Given the description of an element on the screen output the (x, y) to click on. 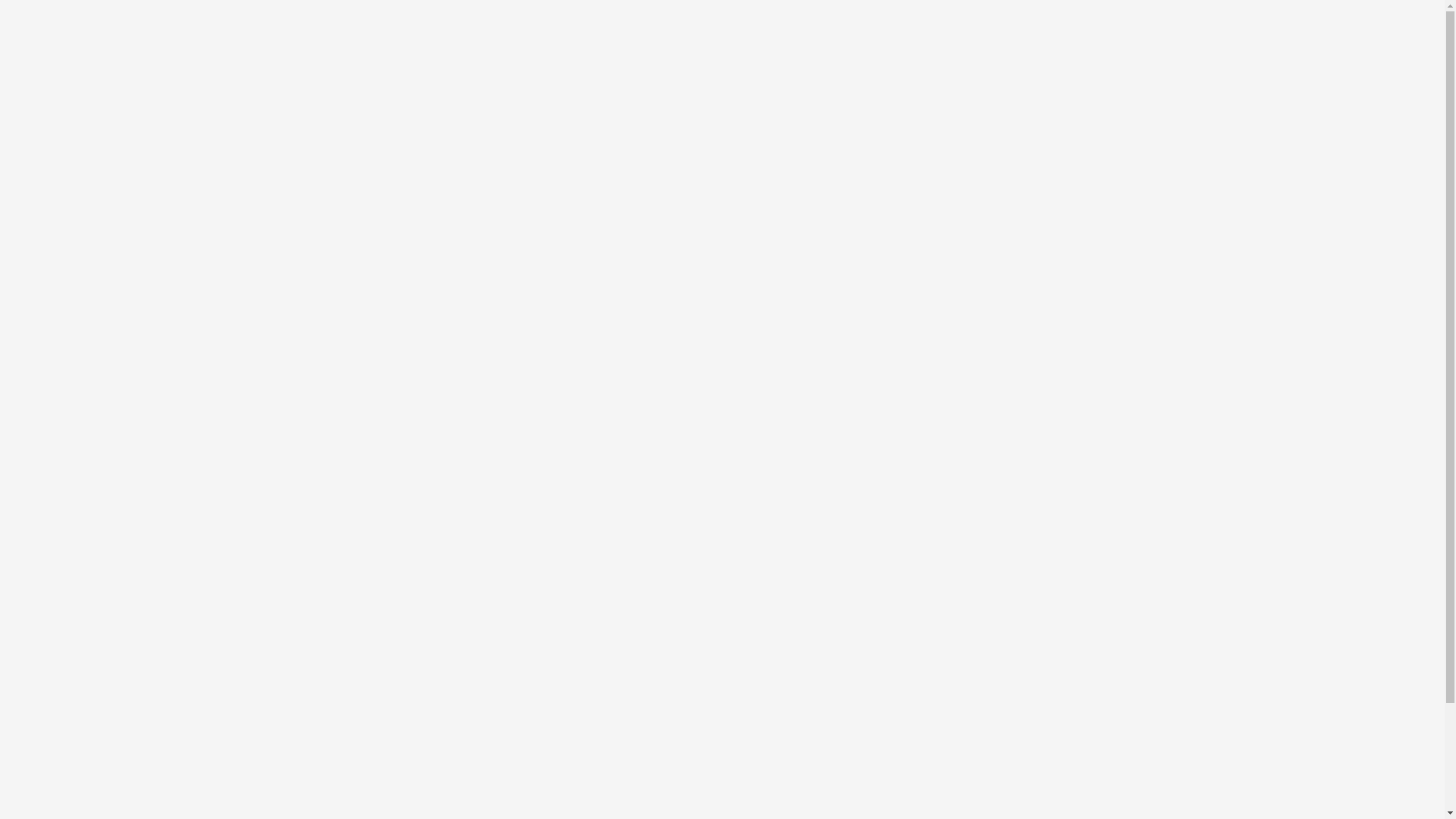
(07) 4054 2975 Element type: text (783, 15)
MOULDS Element type: text (942, 67)
CHECK OUR GALLERY Element type: text (1020, 711)
GALLERY Element type: text (838, 67)
Welcome to Kerbing N.Q. Pty Ltd Element type: text (517, 424)
0415 364 497 Element type: text (978, 15)
0415 364 497 Element type: text (896, 15)
zac@kerbingnq.com.au Element type: text (1090, 15)
HOME Element type: text (752, 67)
CONTACT Element type: text (1047, 67)
